Given the description of an element on the screen output the (x, y) to click on. 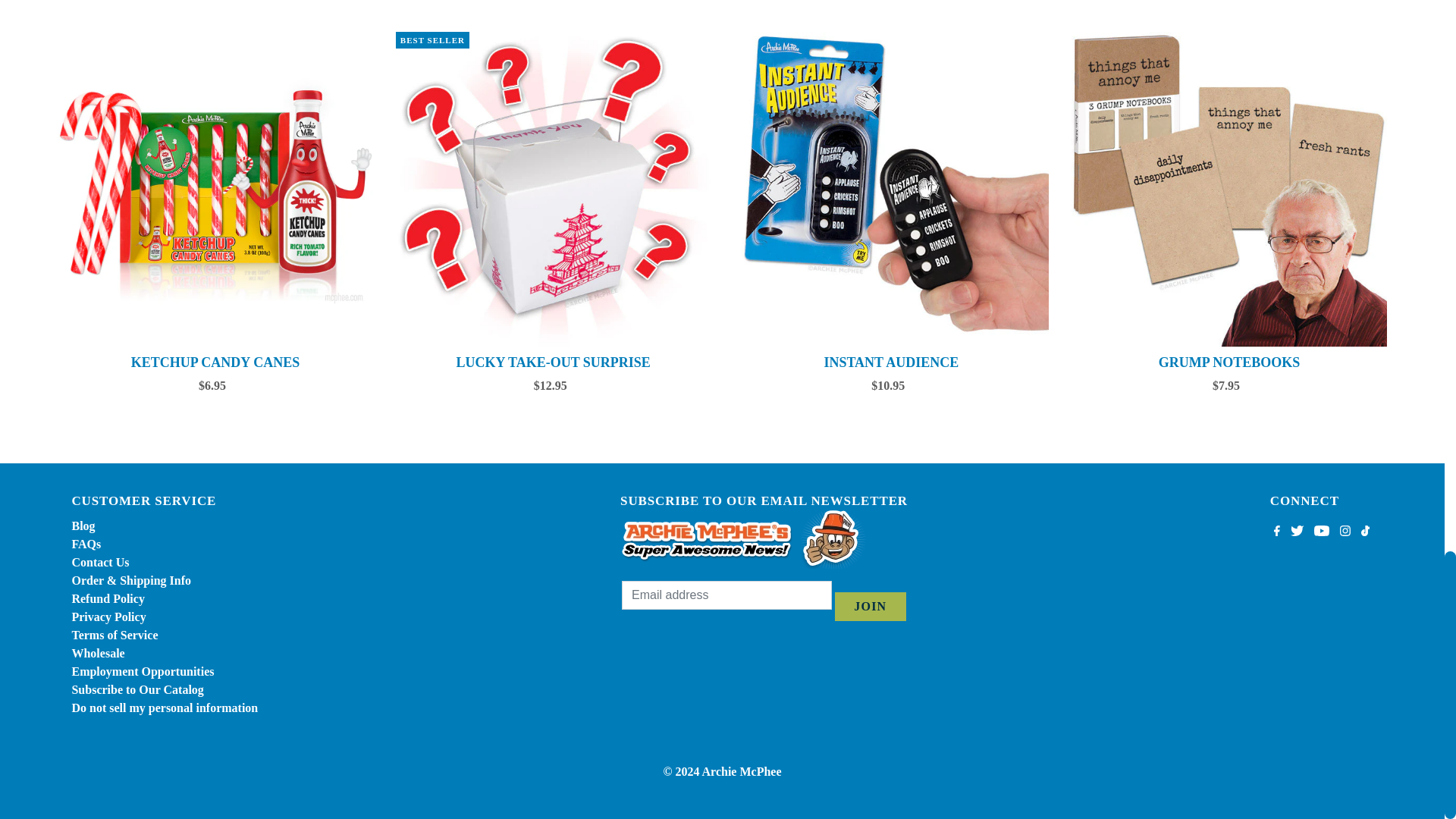
Lucky Take-Out Surprise (553, 189)
JOIN (869, 606)
Ketchup Candy Canes (215, 189)
Instant Audience (891, 189)
Grump Notebooks (1229, 189)
